Given the description of an element on the screen output the (x, y) to click on. 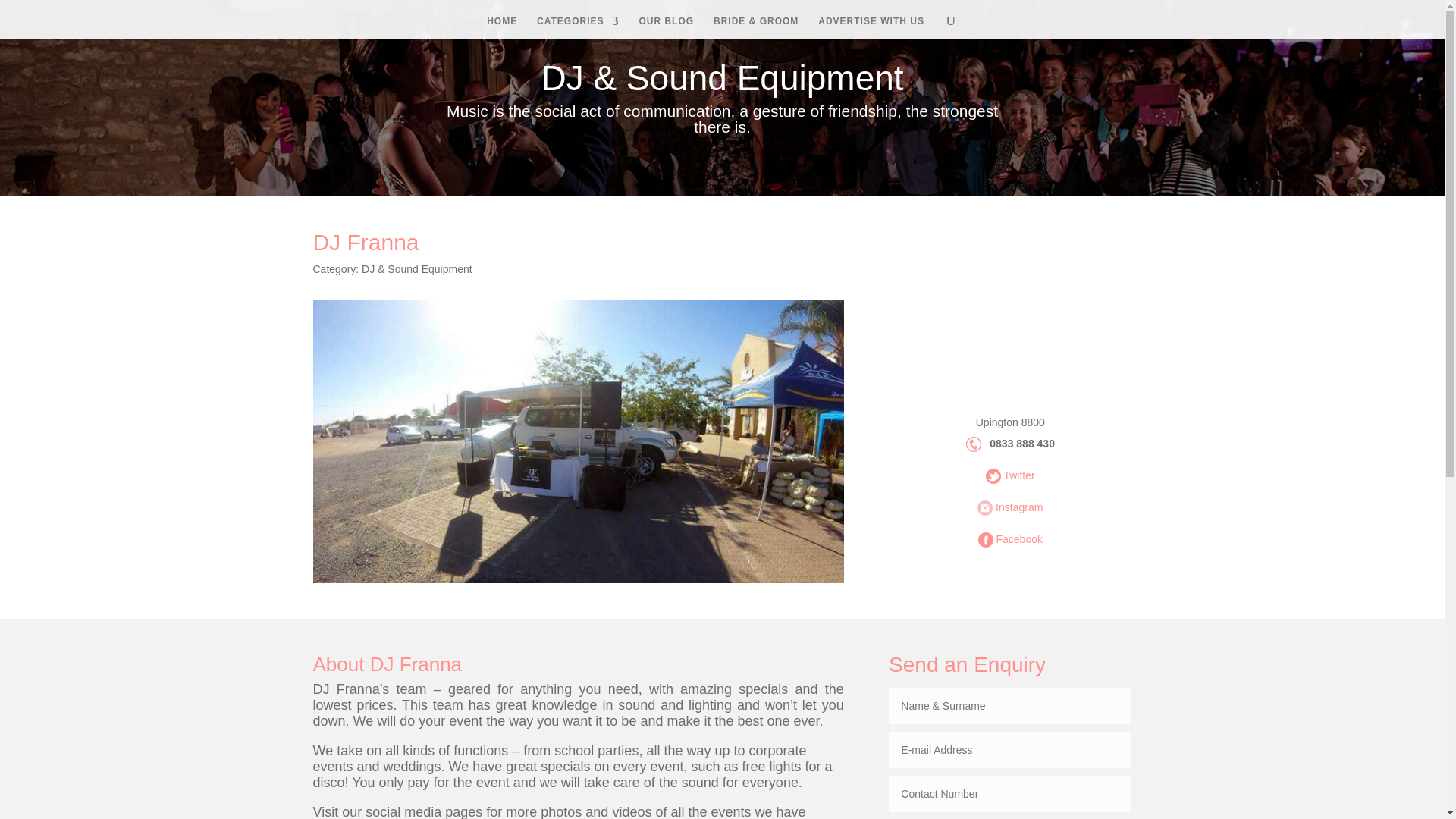
ADVERTISE WITH US (871, 26)
CATEGORIES (577, 26)
HOME (501, 26)
OUR BLOG (666, 26)
slide5 (578, 582)
Only numbers allowed. (1009, 793)
